Given the description of an element on the screen output the (x, y) to click on. 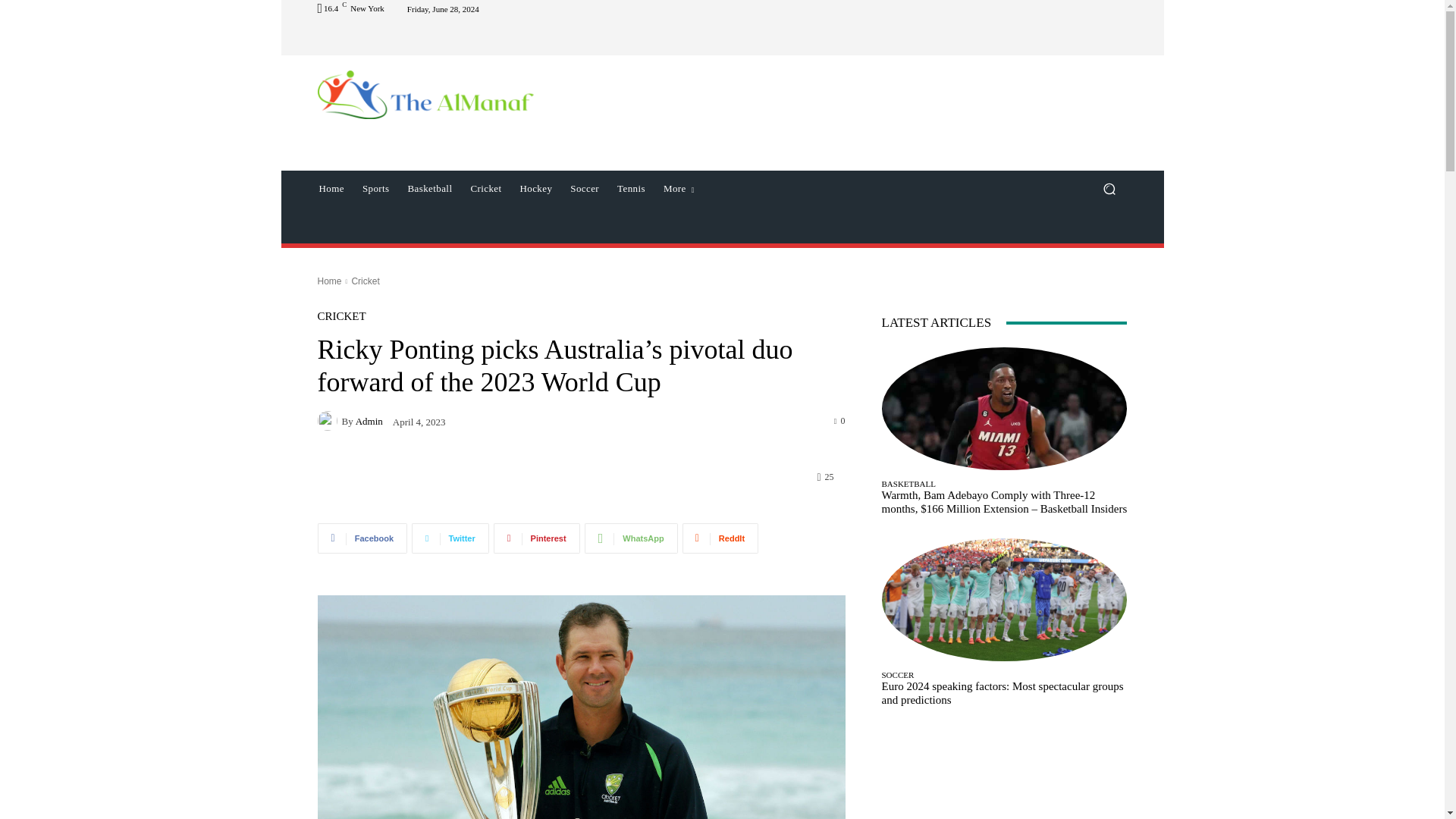
Basketball (429, 188)
Twitter (450, 538)
Tennis (630, 188)
Facebook (362, 538)
Hockey (535, 188)
View all posts in Cricket (364, 281)
Sports (375, 188)
ReddIt (720, 538)
admin (328, 420)
More (678, 188)
Soccer (584, 188)
Home (330, 188)
WhatsApp (631, 538)
Pinterest (536, 538)
Cricket (486, 188)
